Given the description of an element on the screen output the (x, y) to click on. 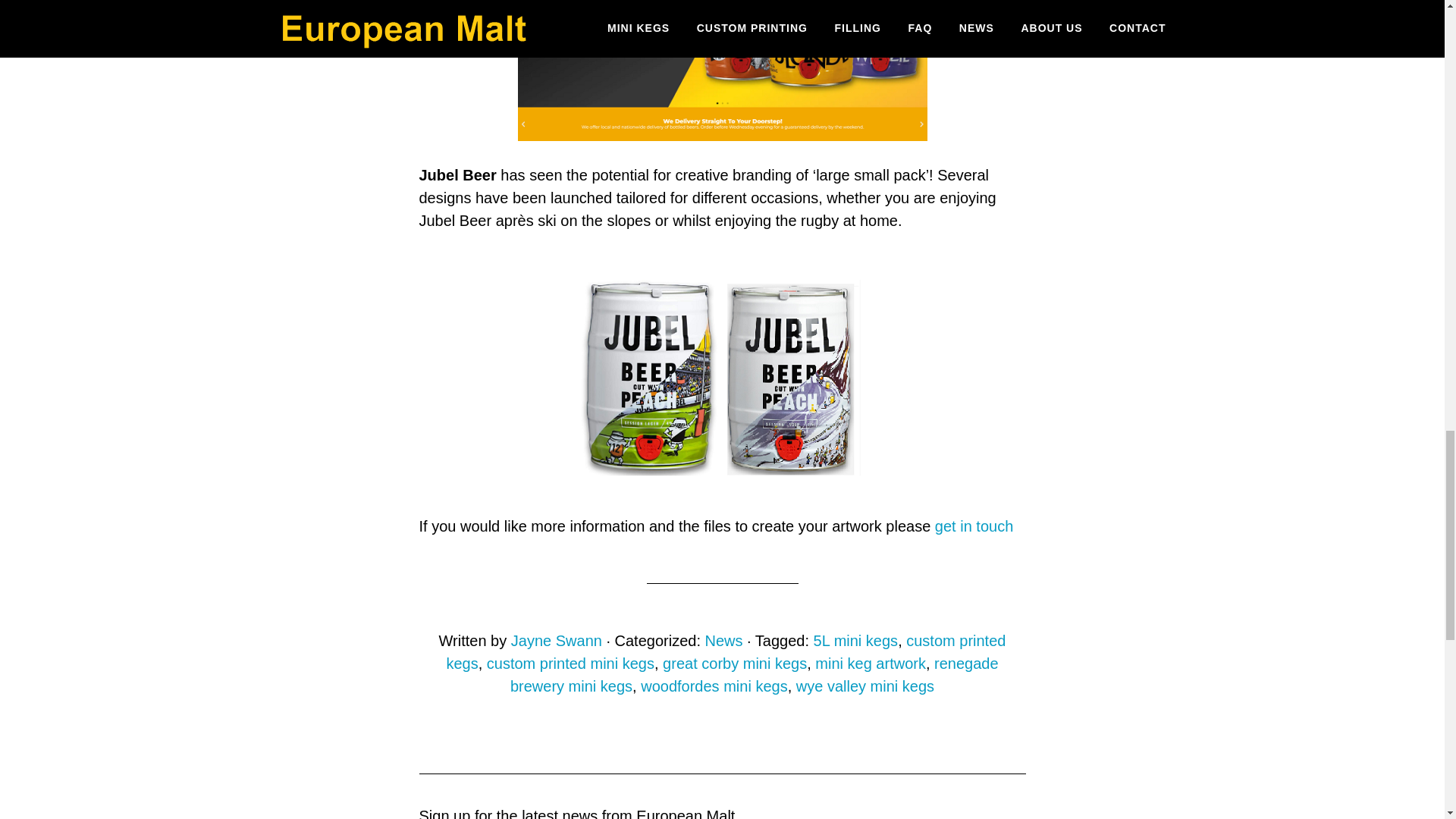
great corby mini kegs (734, 663)
custom printed kegs (725, 651)
renegade brewery mini kegs (754, 674)
Jayne Swann (556, 640)
get in touch (973, 525)
5L mini kegs (855, 640)
custom printed mini kegs (569, 663)
wye valley mini kegs (865, 686)
News (723, 640)
woodfordes mini kegs (713, 686)
mini keg artwork (870, 663)
